Given the description of an element on the screen output the (x, y) to click on. 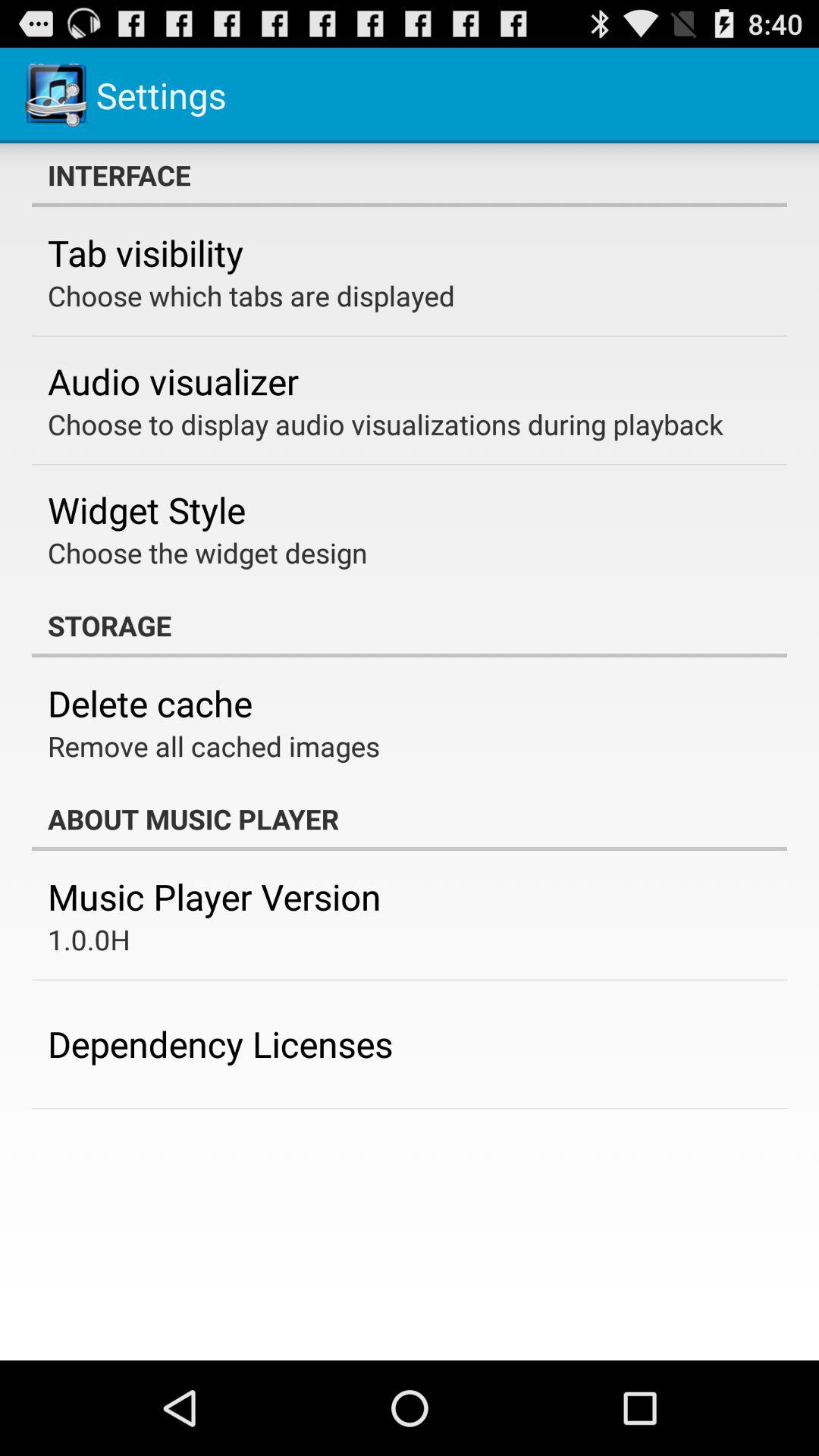
open the audio visualizer item (172, 381)
